Given the description of an element on the screen output the (x, y) to click on. 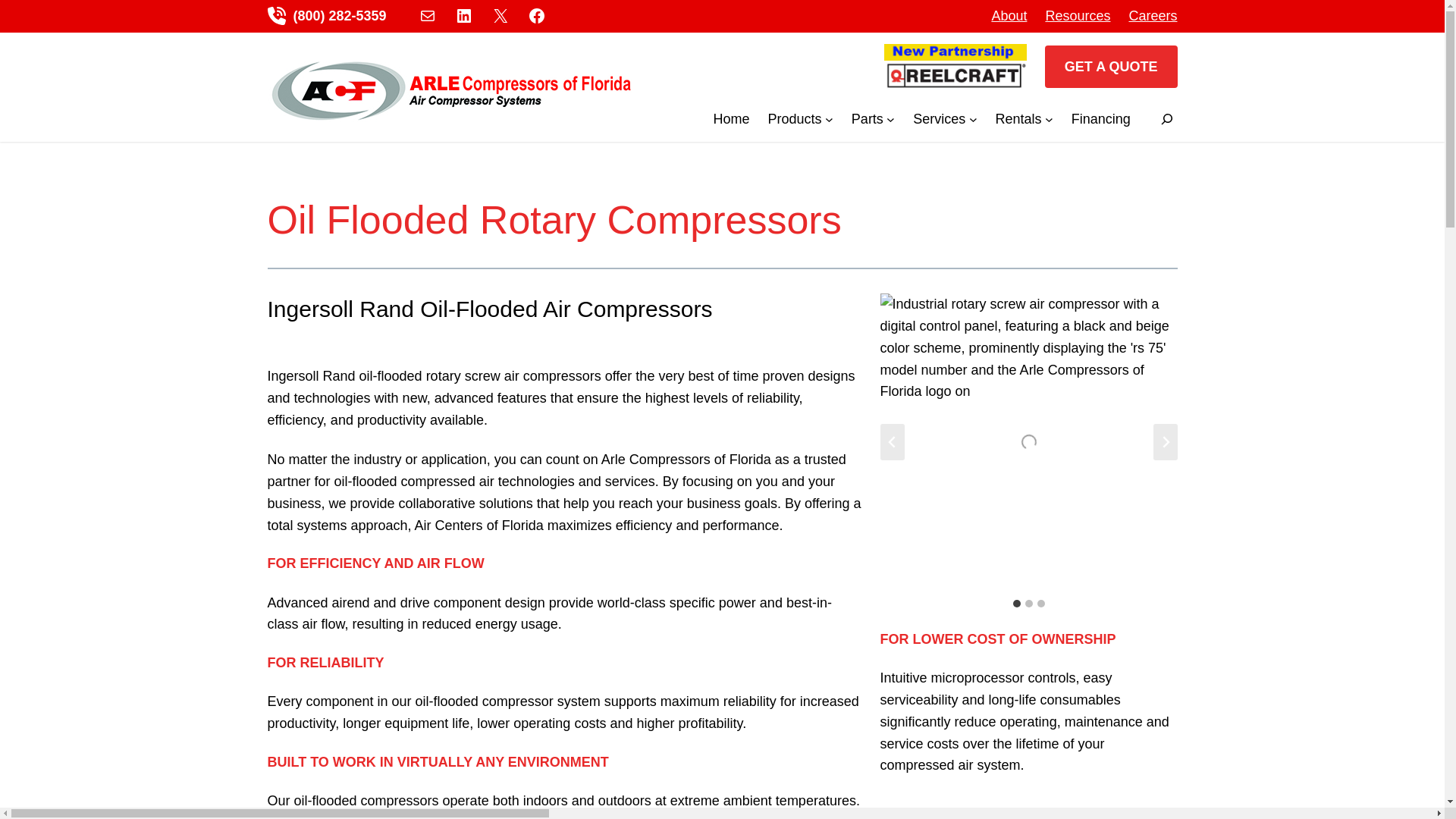
X (500, 15)
Facebook (536, 15)
Resources (1077, 15)
Home (731, 119)
Products (795, 119)
About (1008, 15)
Parts (867, 119)
Careers (1152, 15)
Mail (427, 15)
LinkedIn (463, 15)
